Given the description of an element on the screen output the (x, y) to click on. 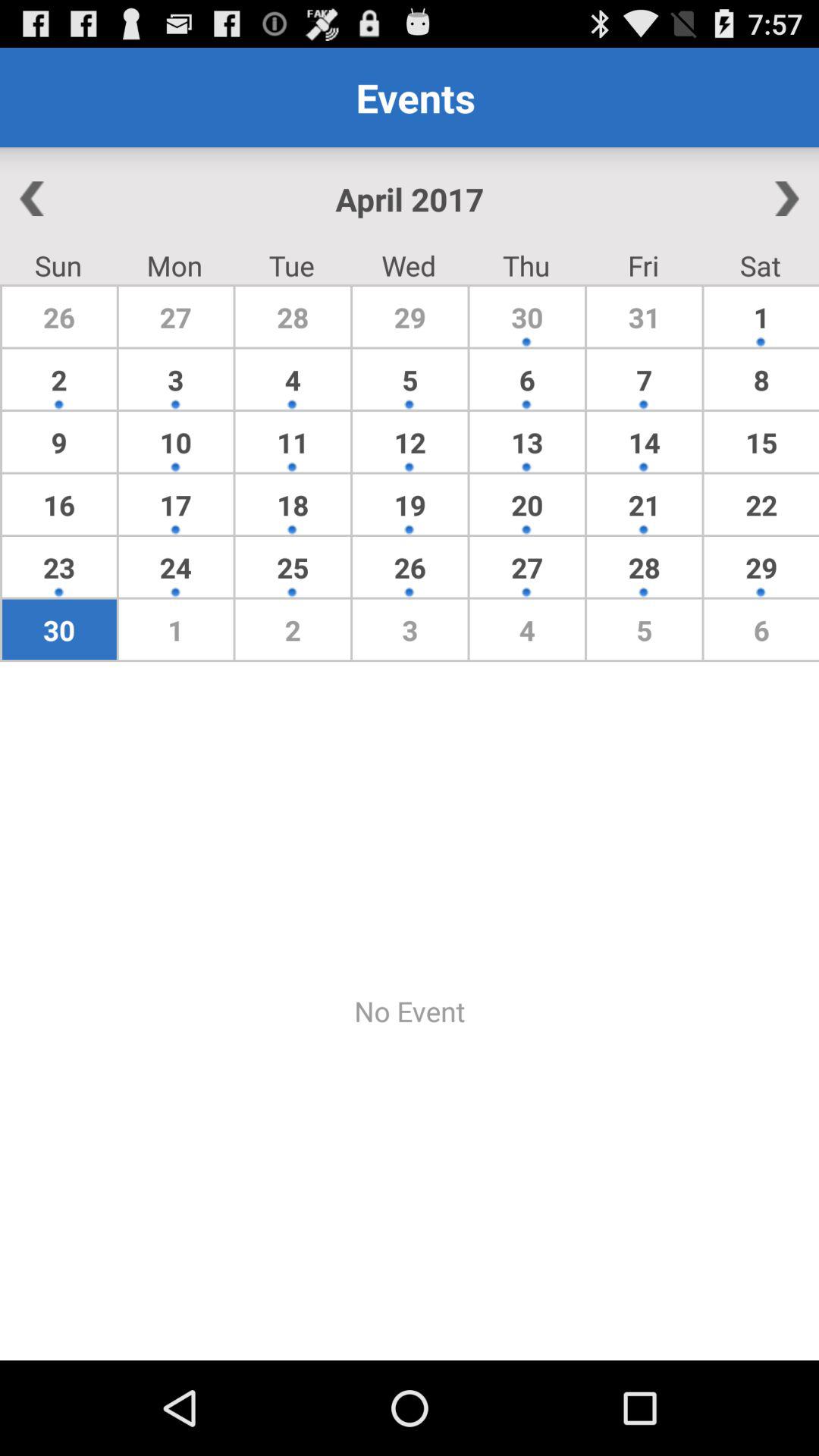
swipe to the 11 icon (292, 441)
